Given the description of an element on the screen output the (x, y) to click on. 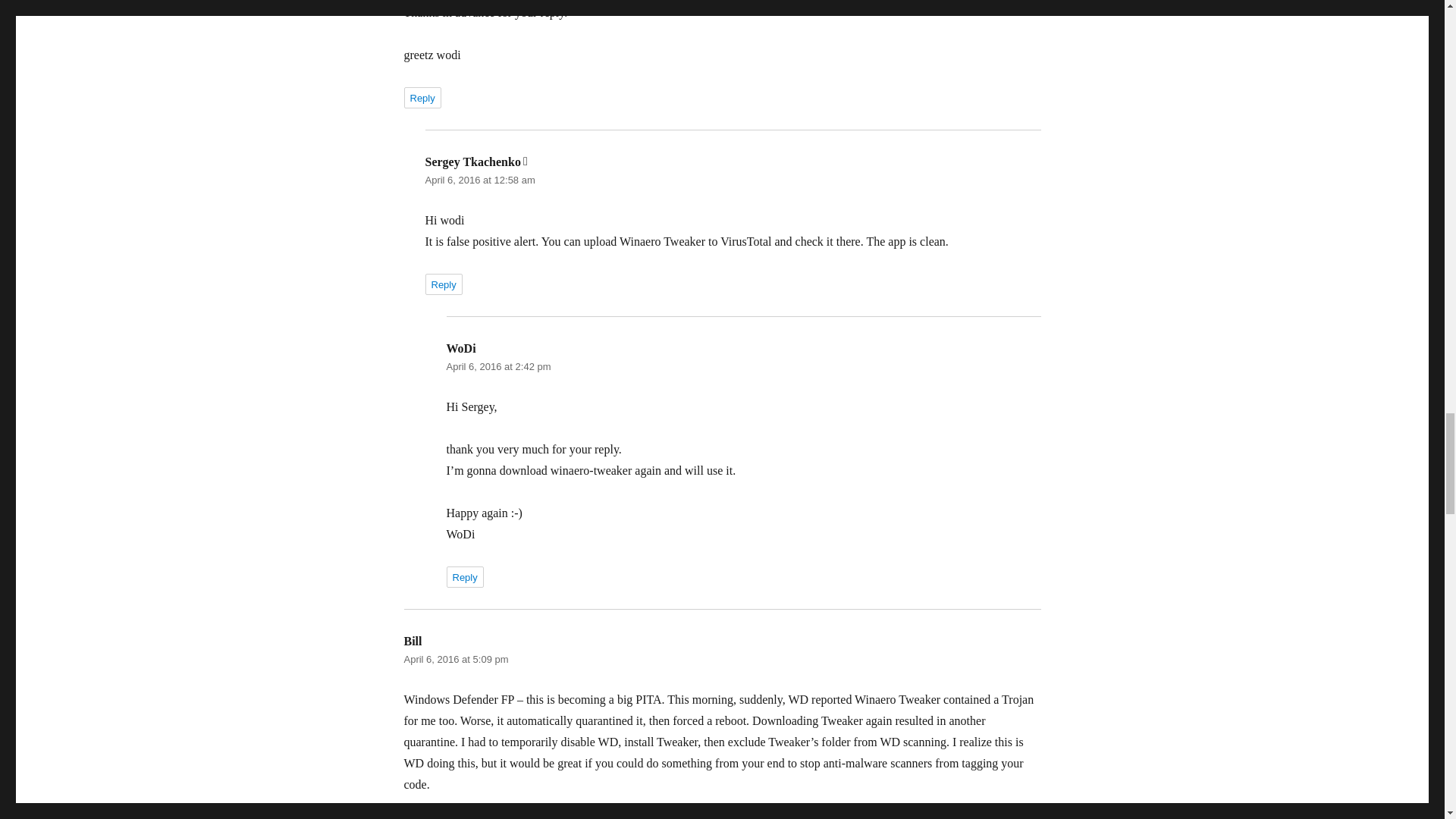
Reply (422, 97)
Reply (464, 577)
Reply (443, 283)
April 6, 2016 at 12:58 am (479, 179)
April 6, 2016 at 5:09 pm (455, 659)
April 6, 2016 at 2:42 pm (497, 366)
Reply (422, 817)
